Given the description of an element on the screen output the (x, y) to click on. 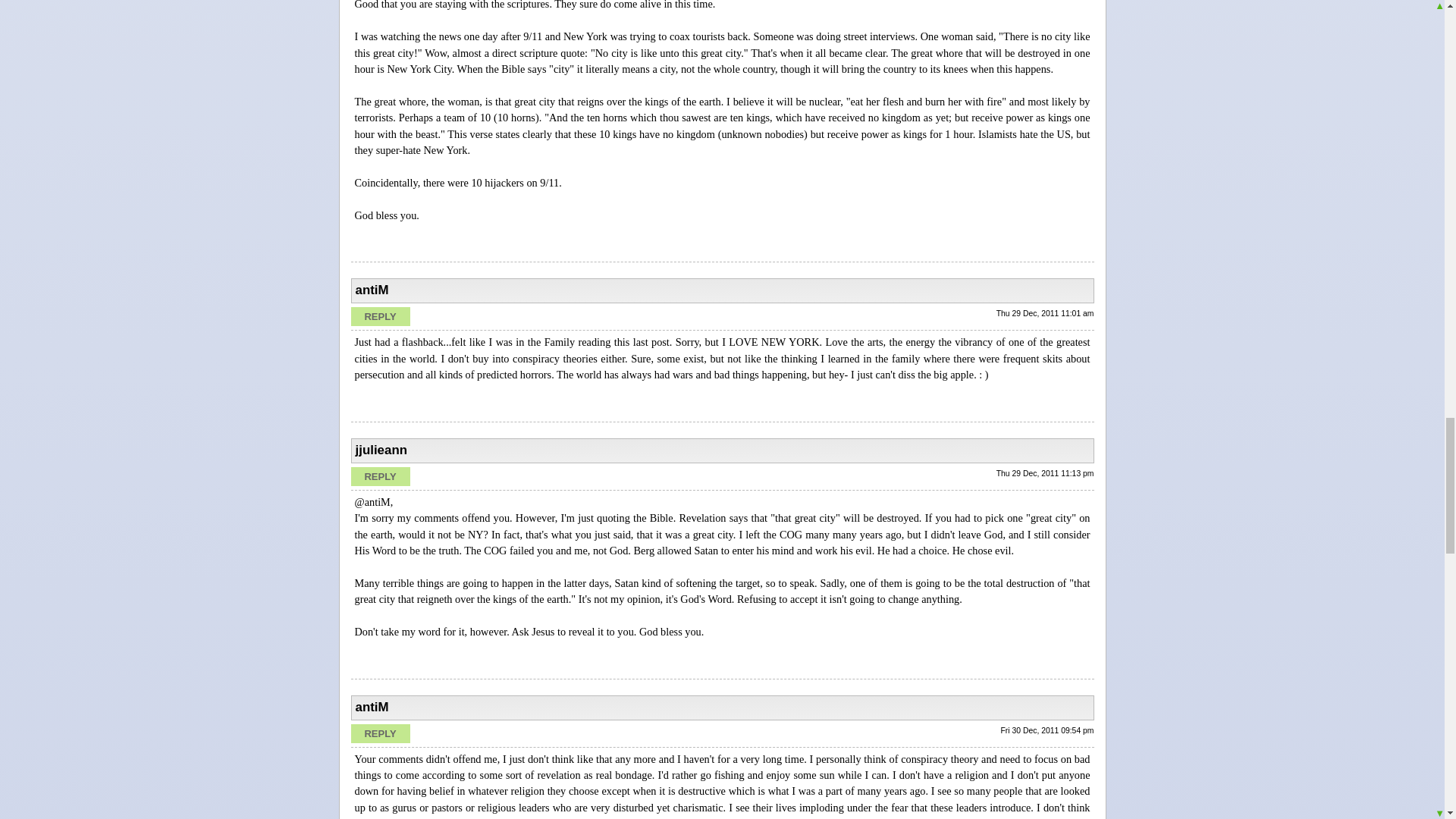
REPLY (379, 316)
REPLY (379, 476)
